Given the description of an element on the screen output the (x, y) to click on. 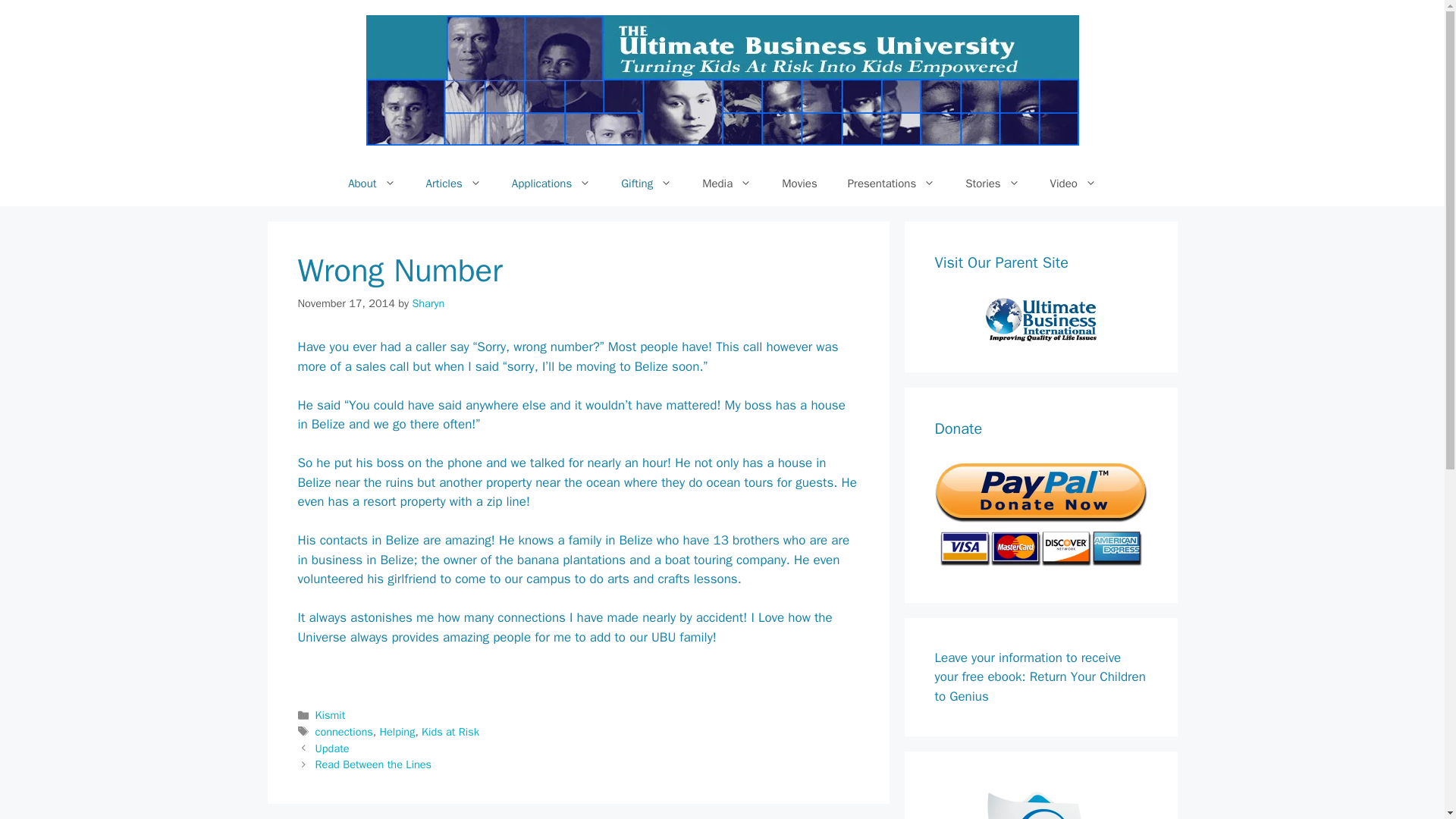
Gifting (646, 183)
Applications (550, 183)
View all posts by Sharyn (428, 303)
Articles (453, 183)
About (371, 183)
Media (727, 183)
